Given the description of an element on the screen output the (x, y) to click on. 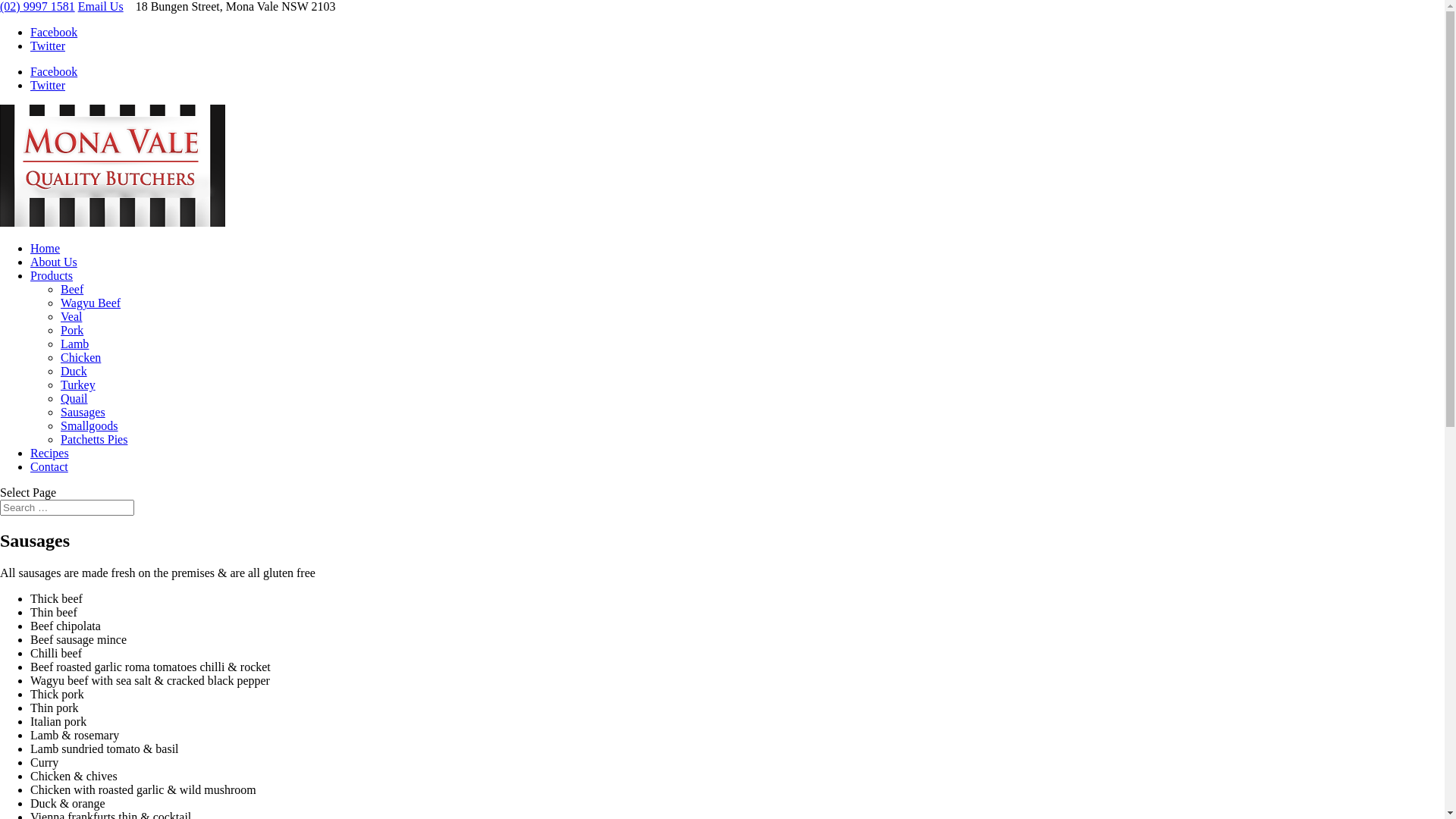
Search for: Element type: hover (67, 507)
Recipes Element type: text (49, 452)
Twitter Element type: text (47, 84)
Sausages Element type: text (82, 411)
Email Us Element type: text (100, 6)
Facebook Element type: text (53, 31)
Veal Element type: text (70, 316)
Beef Element type: text (71, 288)
Twitter Element type: text (47, 45)
Quail Element type: text (73, 398)
Patchetts Pies Element type: text (93, 439)
Lamb Element type: text (74, 343)
(02) 9997 1581 Element type: text (37, 6)
About Us Element type: text (53, 261)
Facebook Element type: text (53, 71)
Wagyu Beef Element type: text (90, 302)
Smallgoods Element type: text (89, 425)
Duck Element type: text (73, 370)
Products Element type: text (51, 275)
Turkey Element type: text (77, 384)
Pork Element type: text (71, 329)
Contact Element type: text (49, 466)
Chicken Element type: text (80, 357)
Home Element type: text (44, 247)
